Given the description of an element on the screen output the (x, y) to click on. 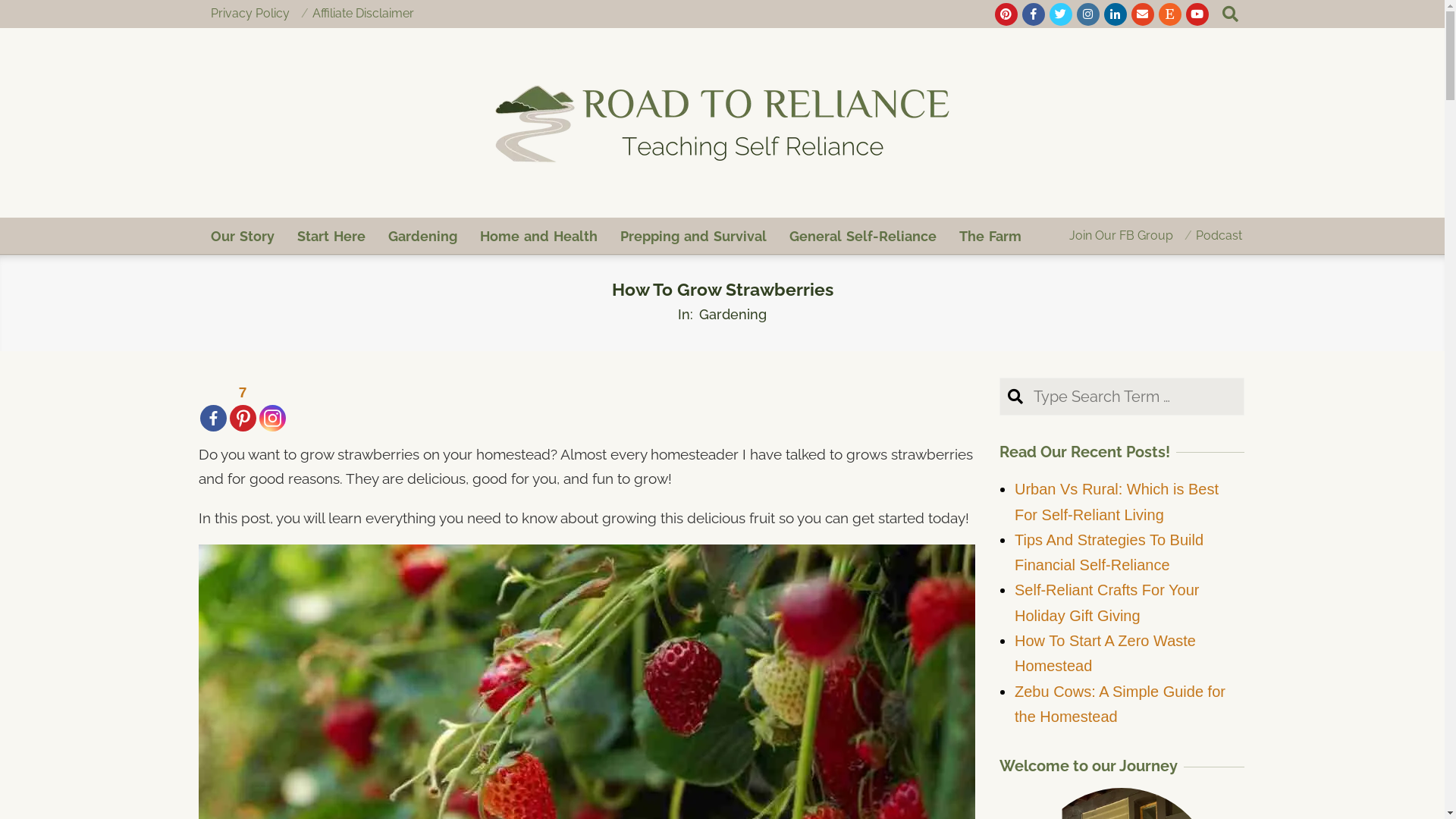
Privacy Policy Element type: text (249, 13)
Join Our FB Group Element type: text (1121, 235)
General Self-Reliance Element type: text (862, 236)
7 Element type: text (242, 405)
How To Start A Zero Waste Homestead Element type: text (1104, 653)
Start Here Element type: text (330, 236)
Affiliate Disclaimer Element type: text (363, 13)
Tips And Strategies To Build Financial Self-Reliance Element type: text (1108, 552)
Gardening Element type: text (732, 314)
Zebu Cows: A Simple Guide for the Homestead Element type: text (1119, 703)
The Farm Element type: text (989, 236)
Instagram Element type: hover (272, 405)
Urban Vs Rural: Which is Best For Self-Reliant Living Element type: text (1116, 501)
Home and Health Element type: text (538, 236)
Self-Reliant Crafts For Your Holiday Gift Giving Element type: text (1106, 602)
Podcast Element type: text (1218, 235)
Facebook Element type: hover (213, 405)
Prepping and Survival Element type: text (692, 236)
Our Story Element type: text (241, 236)
Search Element type: text (25, 9)
Gardening Element type: text (421, 236)
